Given the description of an element on the screen output the (x, y) to click on. 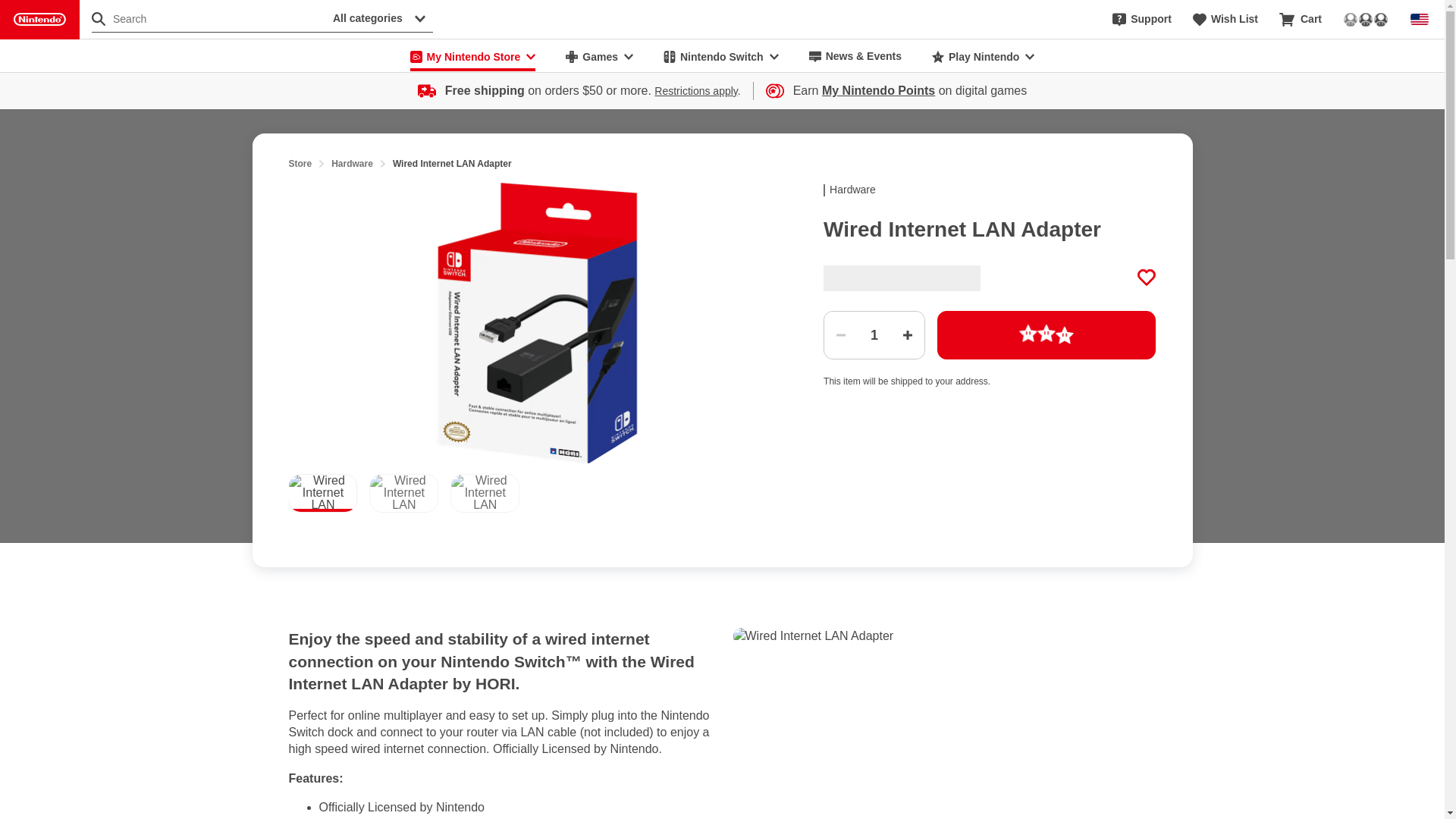
Play Nintendo (983, 56)
Games (599, 56)
Wish List (1224, 19)
Search (208, 18)
Add to Wish List (1146, 277)
Nintendo Switch (720, 56)
My Nintendo Store (472, 56)
Cart (1300, 19)
Nintendo (40, 19)
Support (1142, 19)
